Given the description of an element on the screen output the (x, y) to click on. 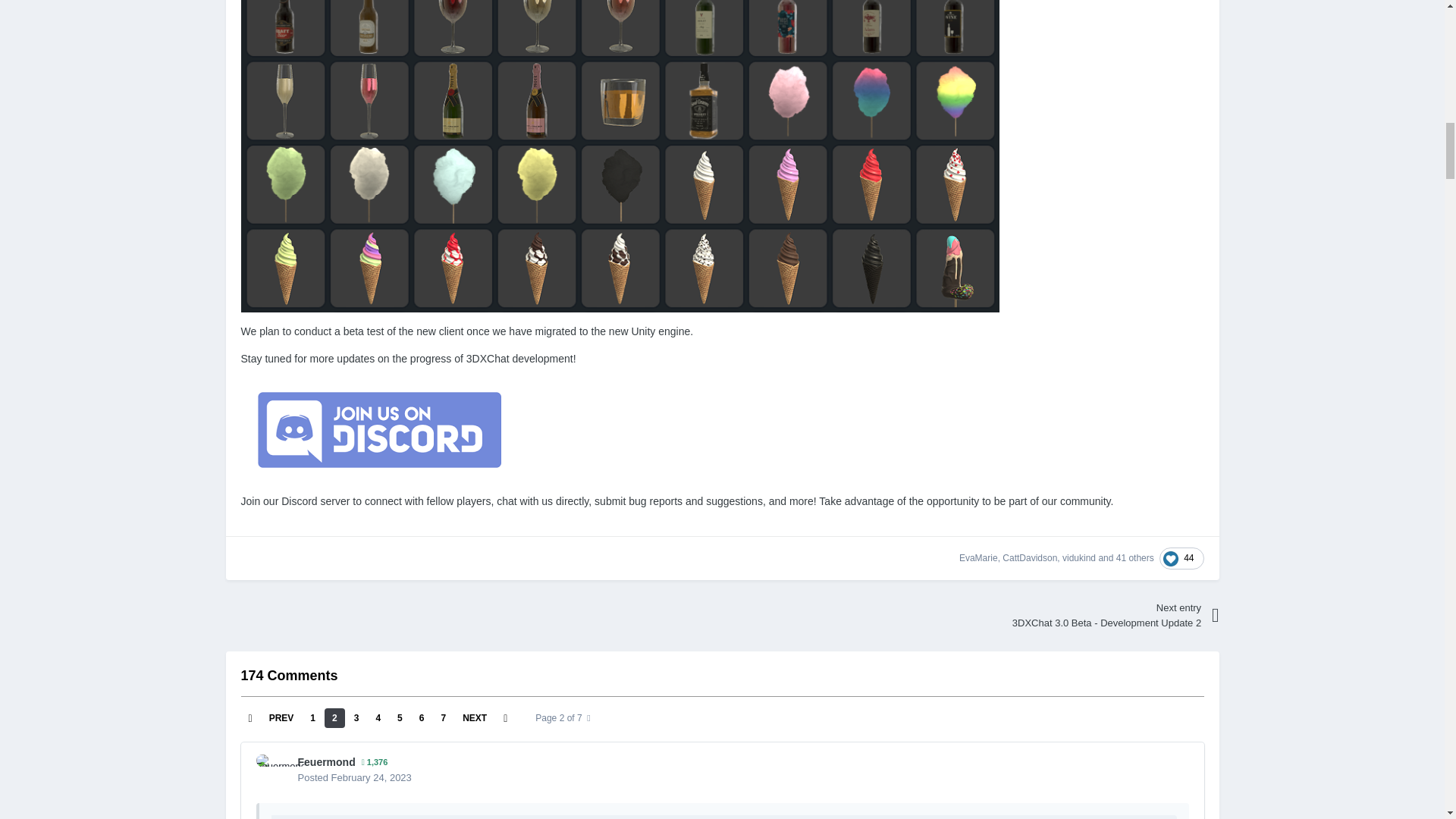
Go to EvaMarie's profile (978, 557)
See who reacted to this (1135, 557)
See who reacted "Like" (1181, 558)
Go to vidukind's profile (1079, 557)
Go to CattDavidson's profile (1030, 557)
